Given the description of an element on the screen output the (x, y) to click on. 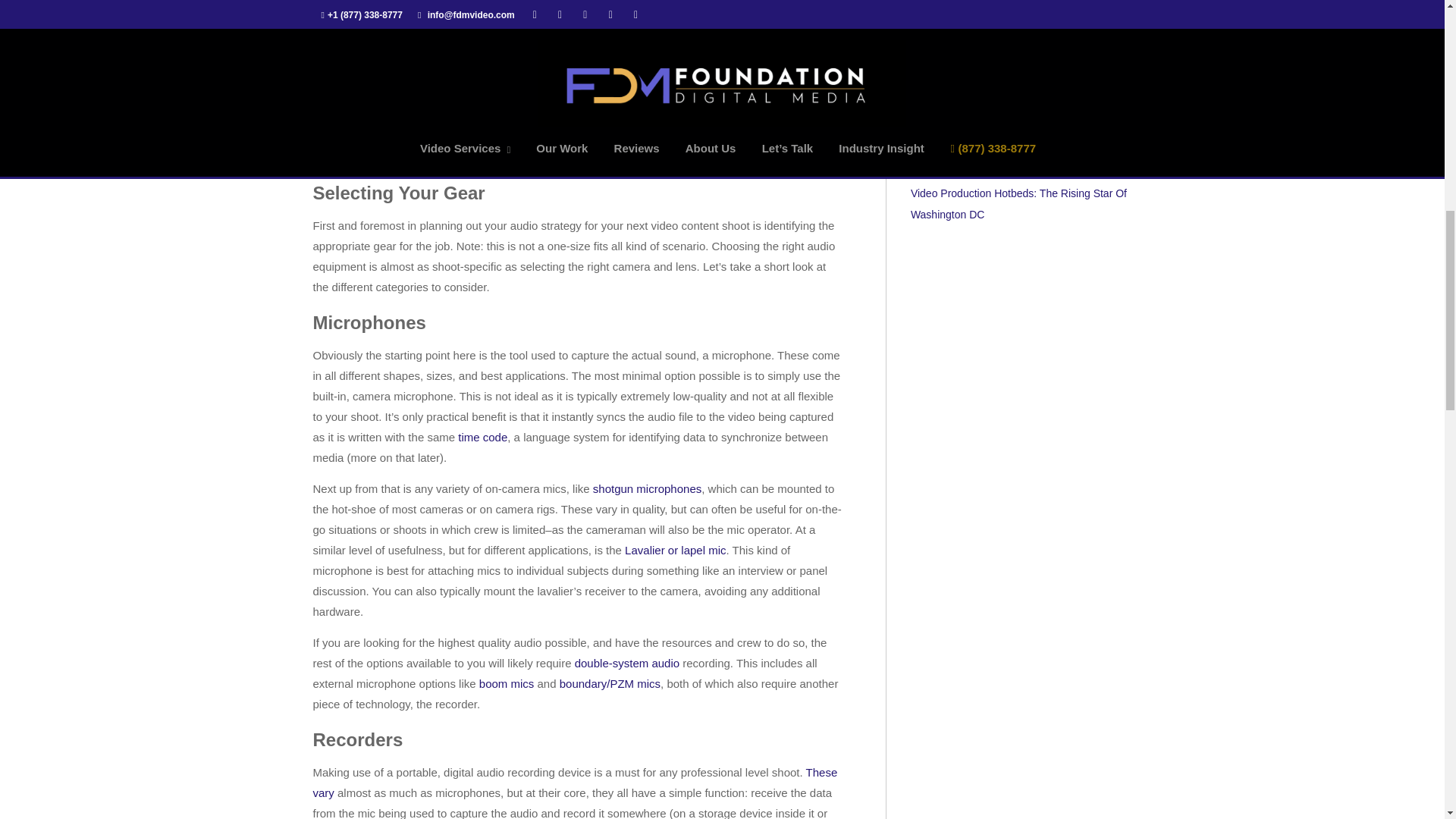
boom mics (506, 683)
video content production (645, 115)
shotgun microphones (646, 488)
time code (482, 436)
Lavalier or lapel mic (674, 549)
double-system audio (627, 662)
